Given the description of an element on the screen output the (x, y) to click on. 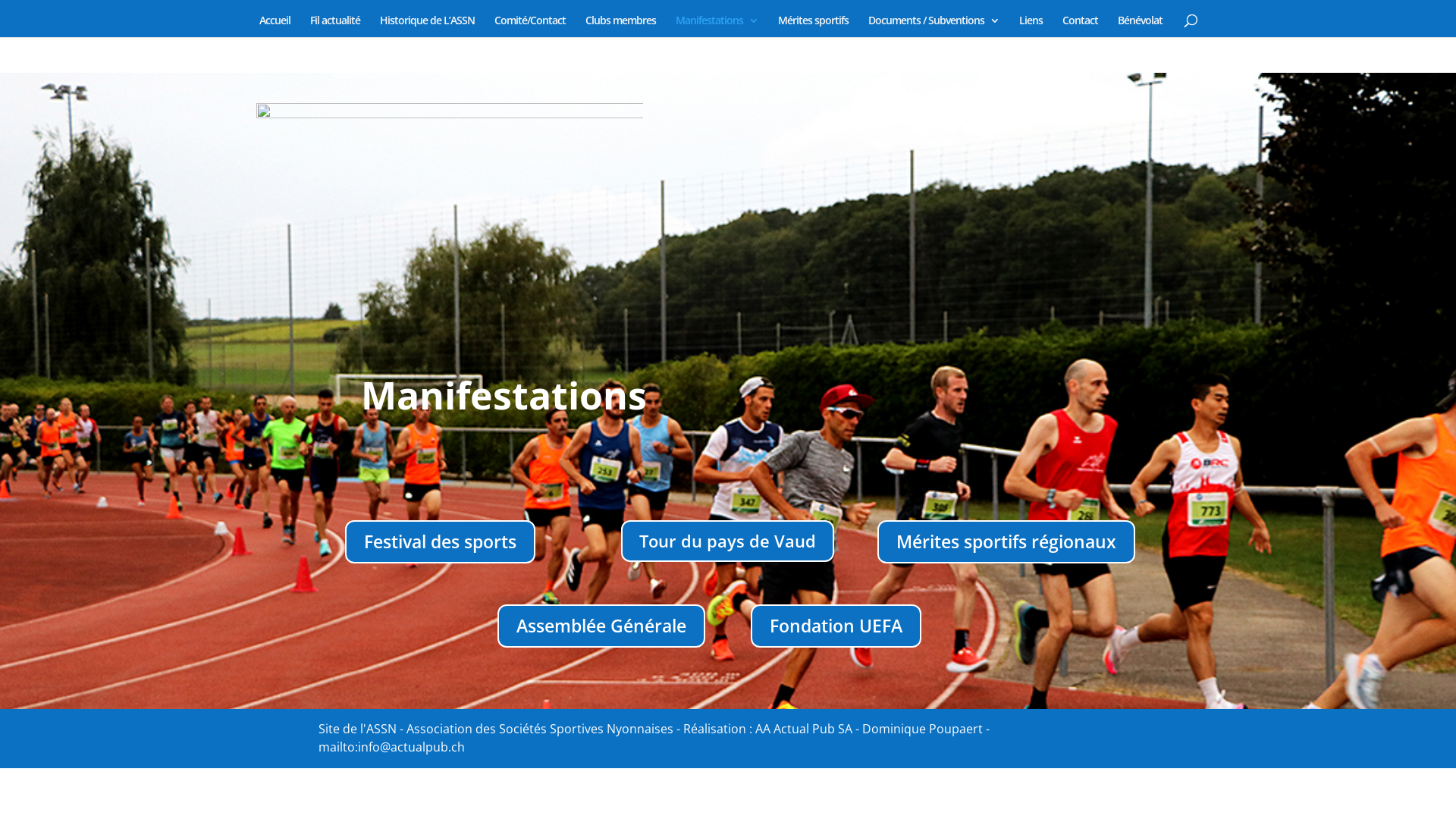
Contact Element type: text (1079, 26)
Liens Element type: text (1030, 26)
Documents / Subventions Element type: text (932, 26)
Accueil Element type: text (274, 26)
Fondation UEFA Element type: text (835, 625)
21-logo-ASSN-20-cm-avec-filet-opt Element type: hover (449, 163)
Manifestations Element type: text (715, 26)
Clubs membres Element type: text (620, 26)
Festival des sports Element type: text (440, 541)
Tour du pays de Vaud Element type: text (727, 540)
